Given the description of an element on the screen output the (x, y) to click on. 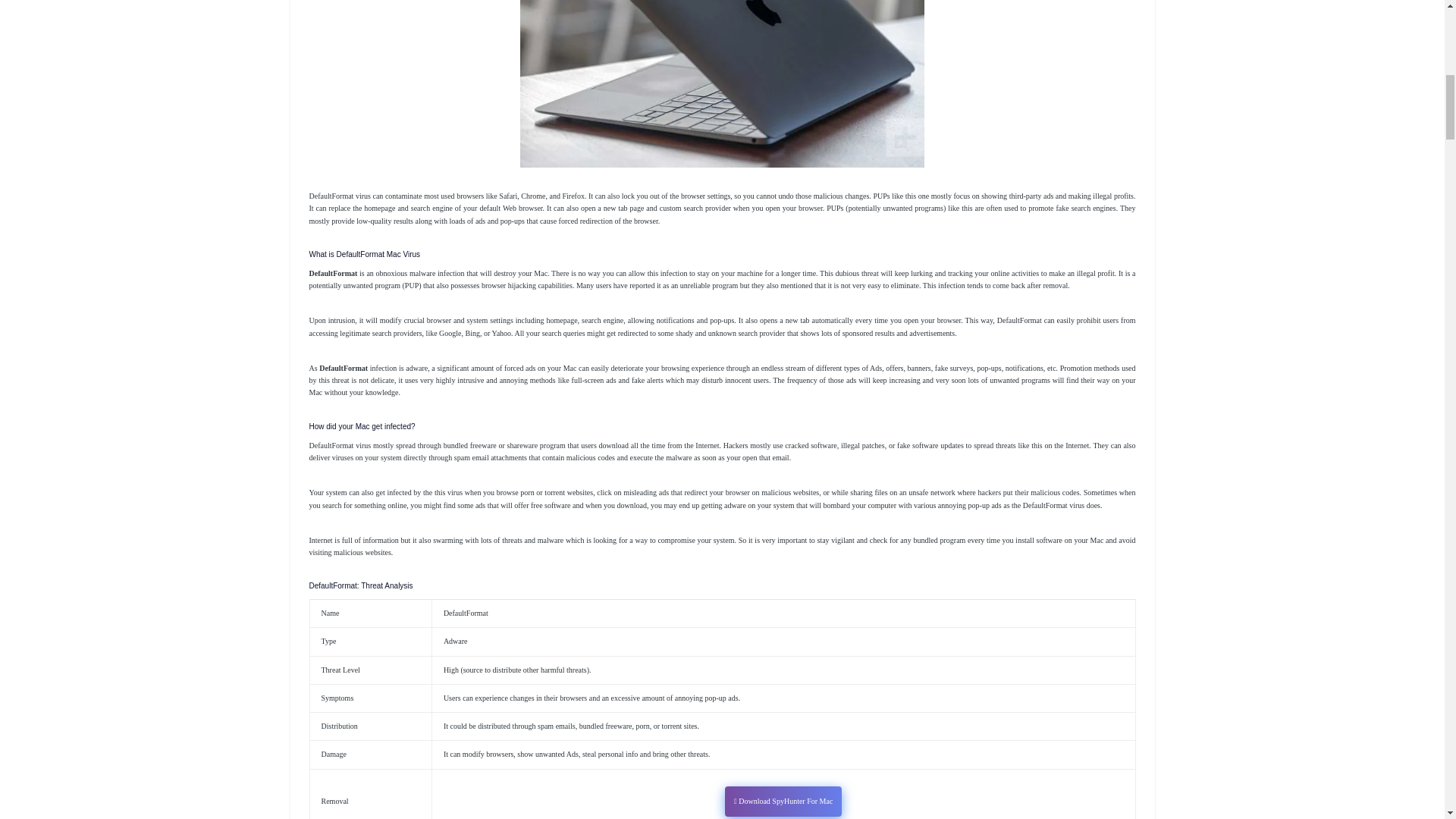
Download SpyHunter For Mac (783, 800)
DefaultFormat Mac Virus Removal (721, 83)
